Given the description of an element on the screen output the (x, y) to click on. 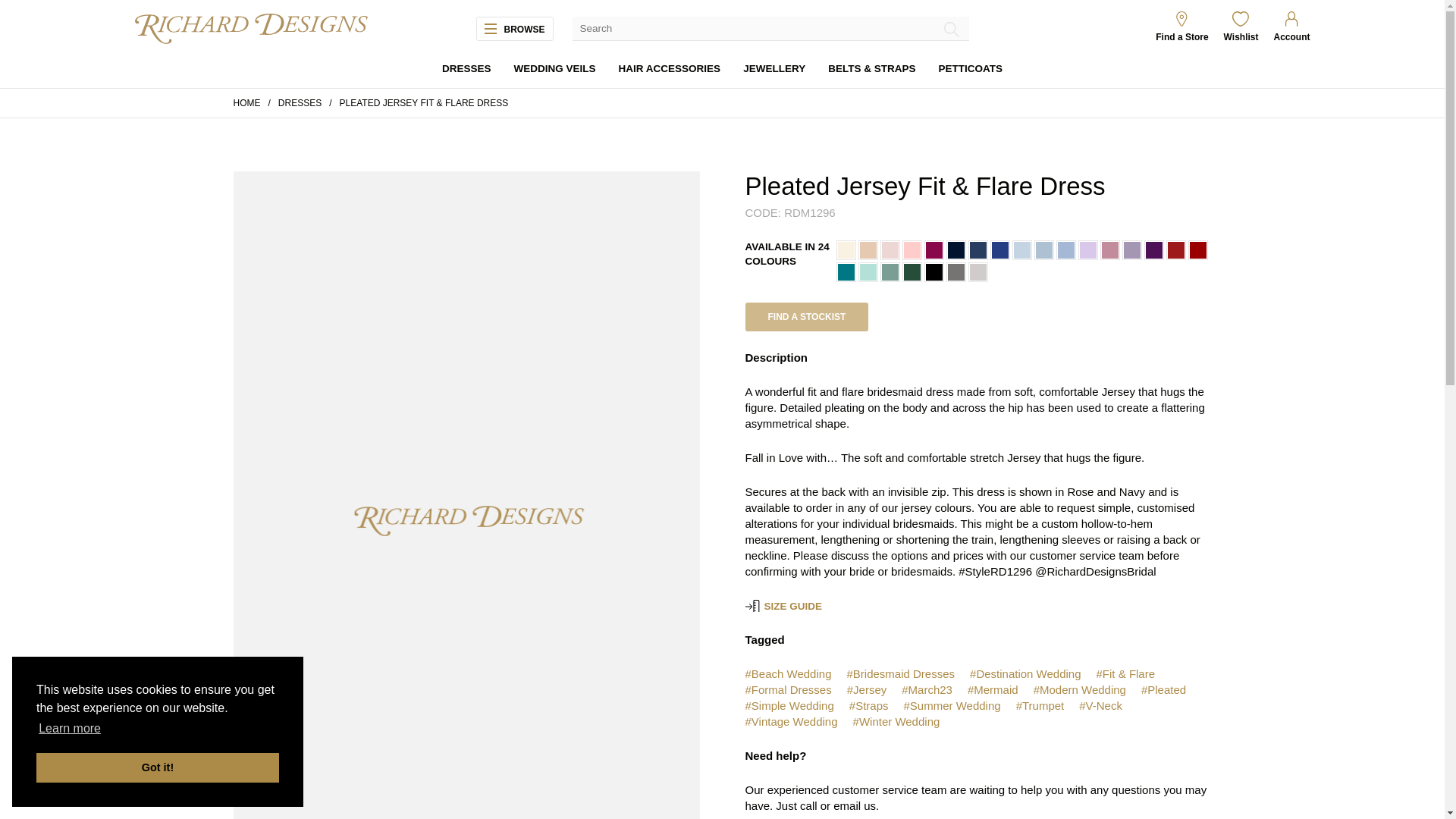
Learn more (69, 728)
Wishlist (1241, 37)
DRESSES (299, 102)
HOME (246, 102)
BROWSE (520, 28)
DRESSES (467, 69)
PETTICOATS (970, 69)
HAIR ACCESSORIES (669, 69)
Find a Store (1182, 37)
Got it! (157, 767)
WEDDING VEILS (554, 69)
Account (1292, 37)
JEWELLERY (773, 69)
